Given the description of an element on the screen output the (x, y) to click on. 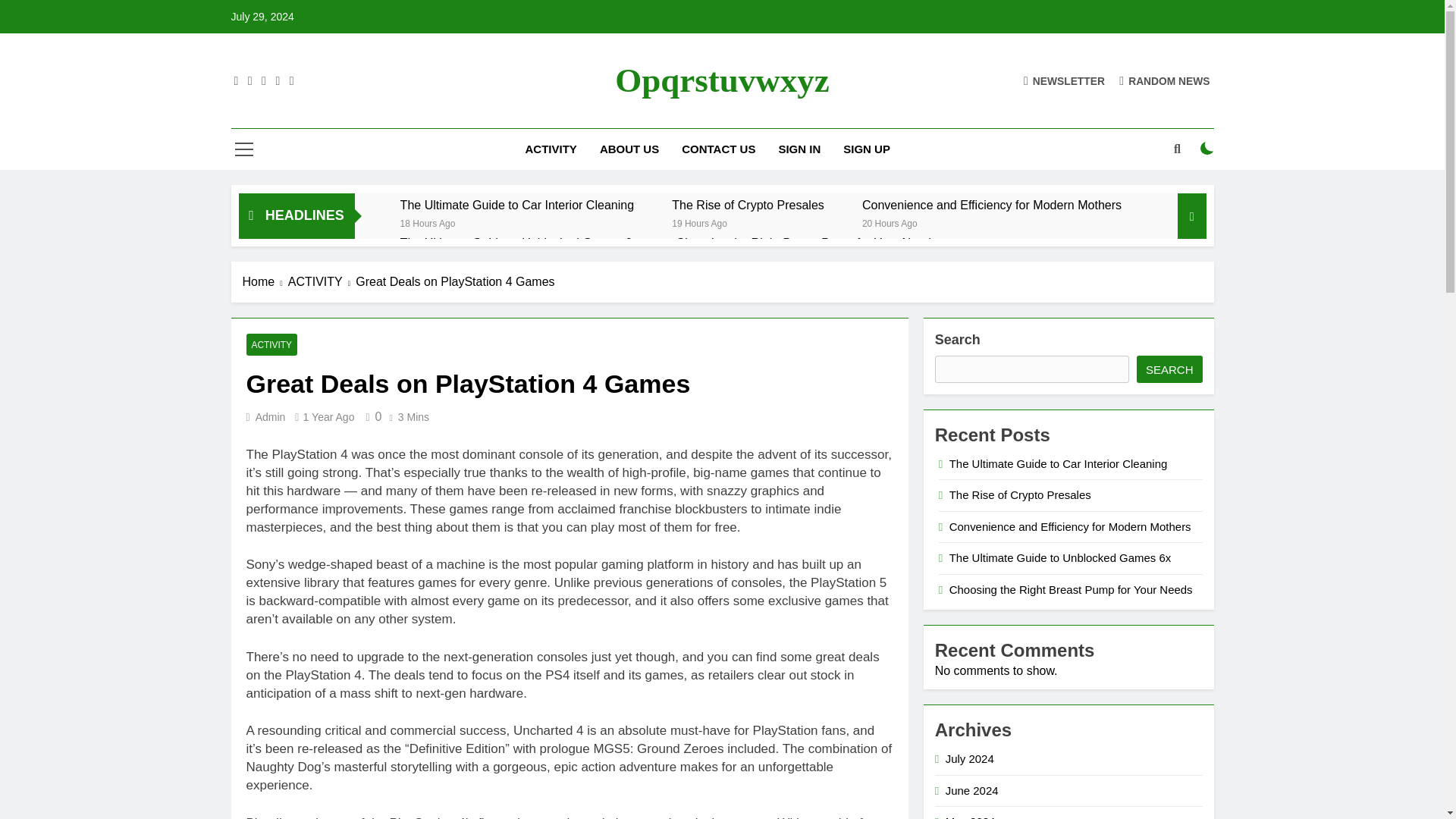
CONTACT US (718, 148)
on (1206, 148)
Choosing the Right Breast Pump for Your Needs (807, 242)
SIGN IN (799, 148)
ABOUT US (628, 148)
20 Hours Ago (889, 222)
Convenience and Efficiency for Modern Mothers (991, 205)
The Ultimate Guide to Unblocked Games 6x (519, 242)
ACTIVITY (271, 344)
Convenience and Efficiency for Modern Mothers (991, 205)
The Ultimate Guide to Car Interior Cleaning (517, 205)
Home (265, 281)
Choosing the Right Breast Pump for Your Needs (807, 242)
18 Hours Ago (427, 222)
1 Year Ago (327, 417)
